Given the description of an element on the screen output the (x, y) to click on. 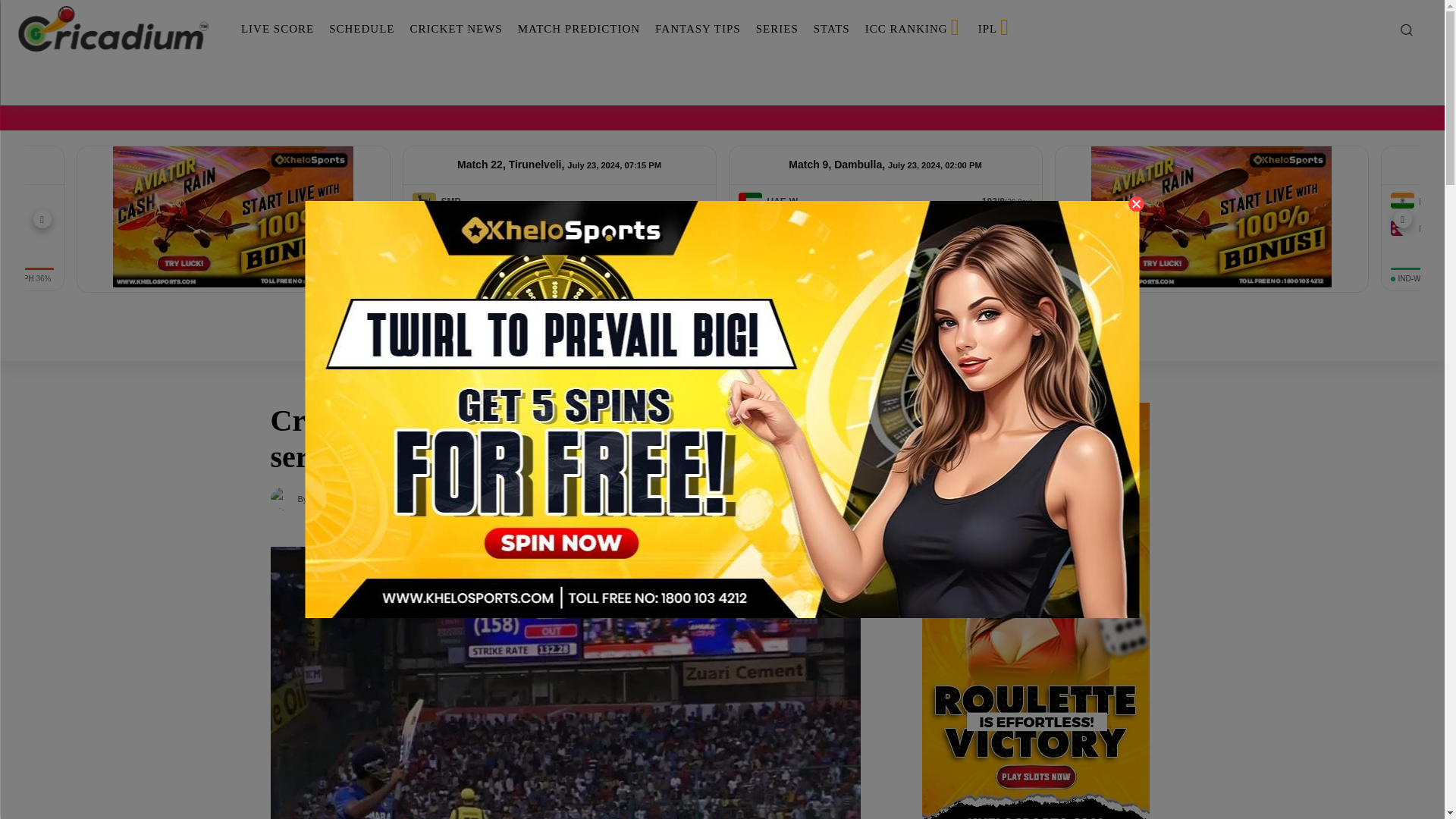
CRICKET NEWS (455, 28)
MATCH PREDICTION (579, 28)
FANTASY TIPS (697, 28)
SCHEDULE (361, 28)
Cricadium Staff (283, 498)
Cricadium (112, 28)
SERIES (777, 28)
STATS (831, 28)
LIVE SCORE (276, 28)
IPL (995, 28)
ICC RANKING (914, 28)
